Given the description of an element on the screen output the (x, y) to click on. 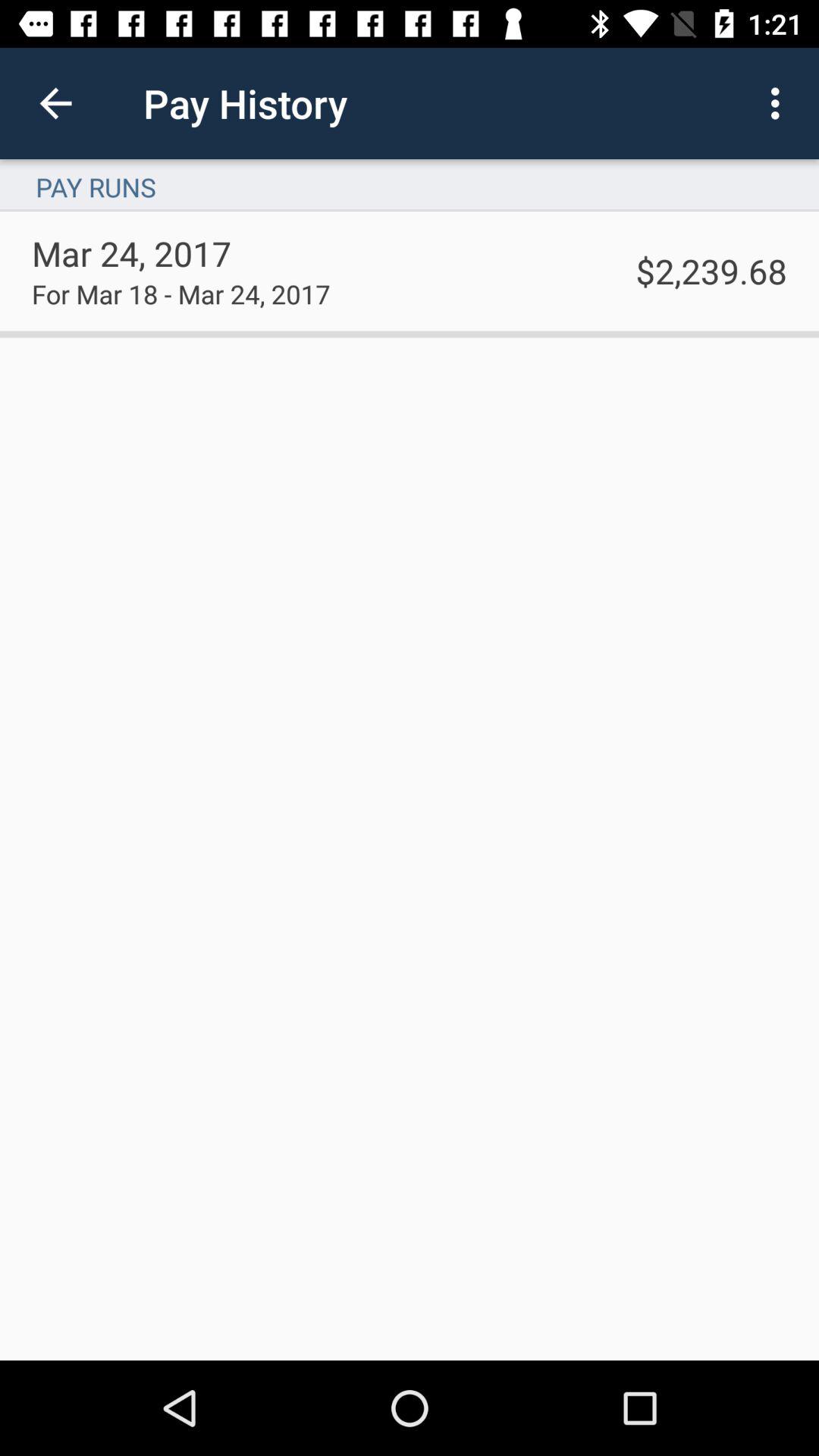
select item next to pay history item (55, 103)
